Given the description of an element on the screen output the (x, y) to click on. 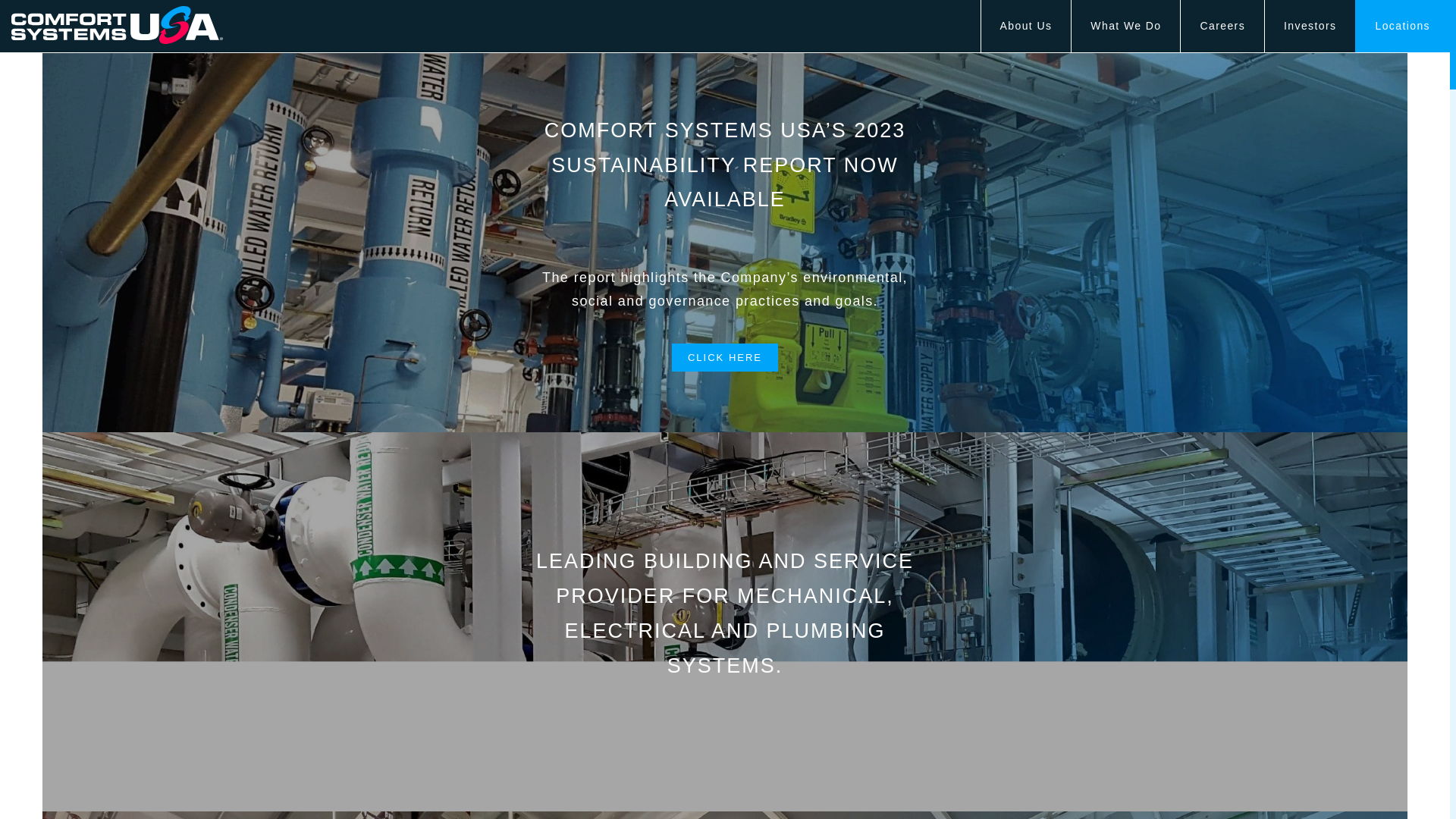
What We Do (1125, 26)
About Us (1026, 26)
About Us (1026, 26)
Careers (1221, 26)
What We Do (1125, 26)
CLICK HERE (724, 357)
Investors (1310, 26)
